Given the description of an element on the screen output the (x, y) to click on. 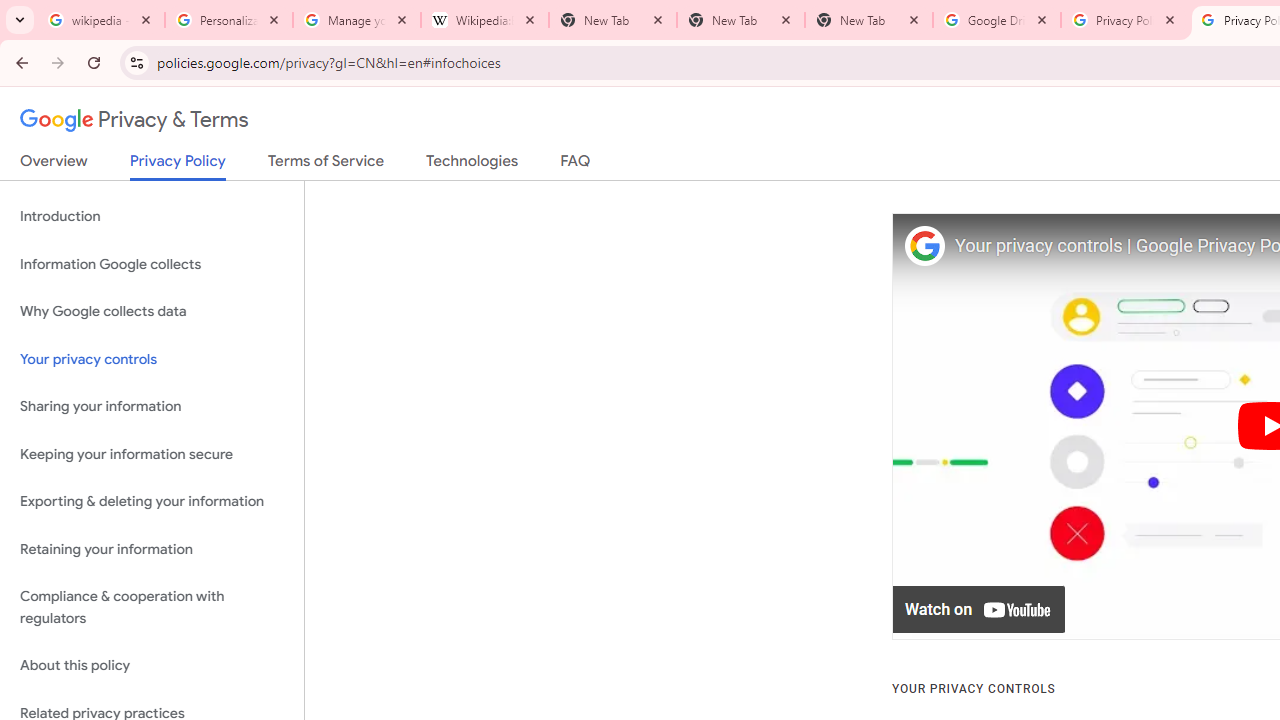
Terms of Service (326, 165)
FAQ (575, 165)
Keeping your information secure (152, 453)
Compliance & cooperation with regulators (152, 607)
Privacy Policy (177, 166)
